Given the description of an element on the screen output the (x, y) to click on. 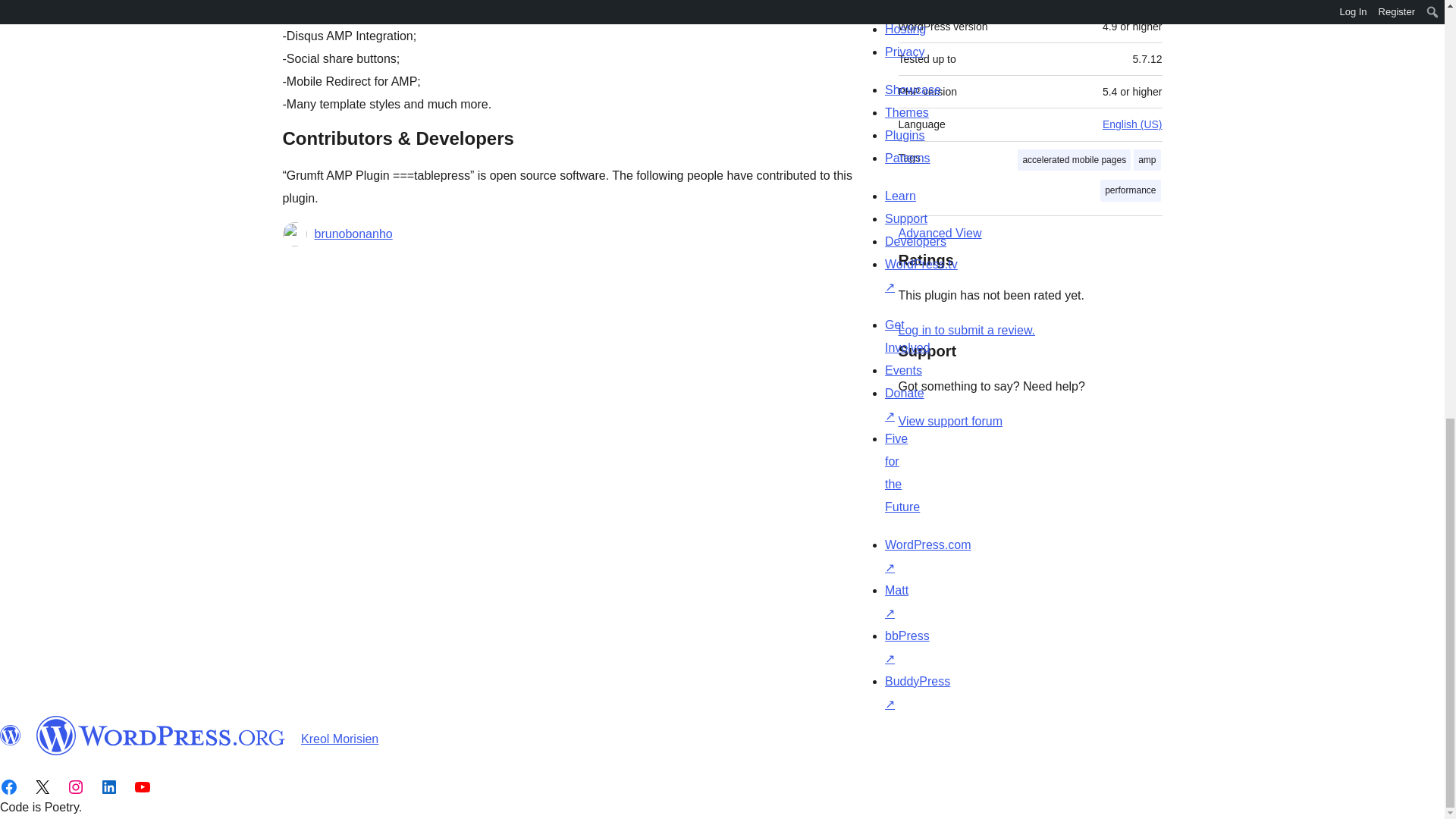
WordPress.org (10, 735)
performance (1130, 190)
amp (1147, 160)
accelerated mobile pages (1074, 160)
WordPress.org (160, 735)
brunobonanho (352, 233)
Log in to WordPress.org (966, 329)
